Given the description of an element on the screen output the (x, y) to click on. 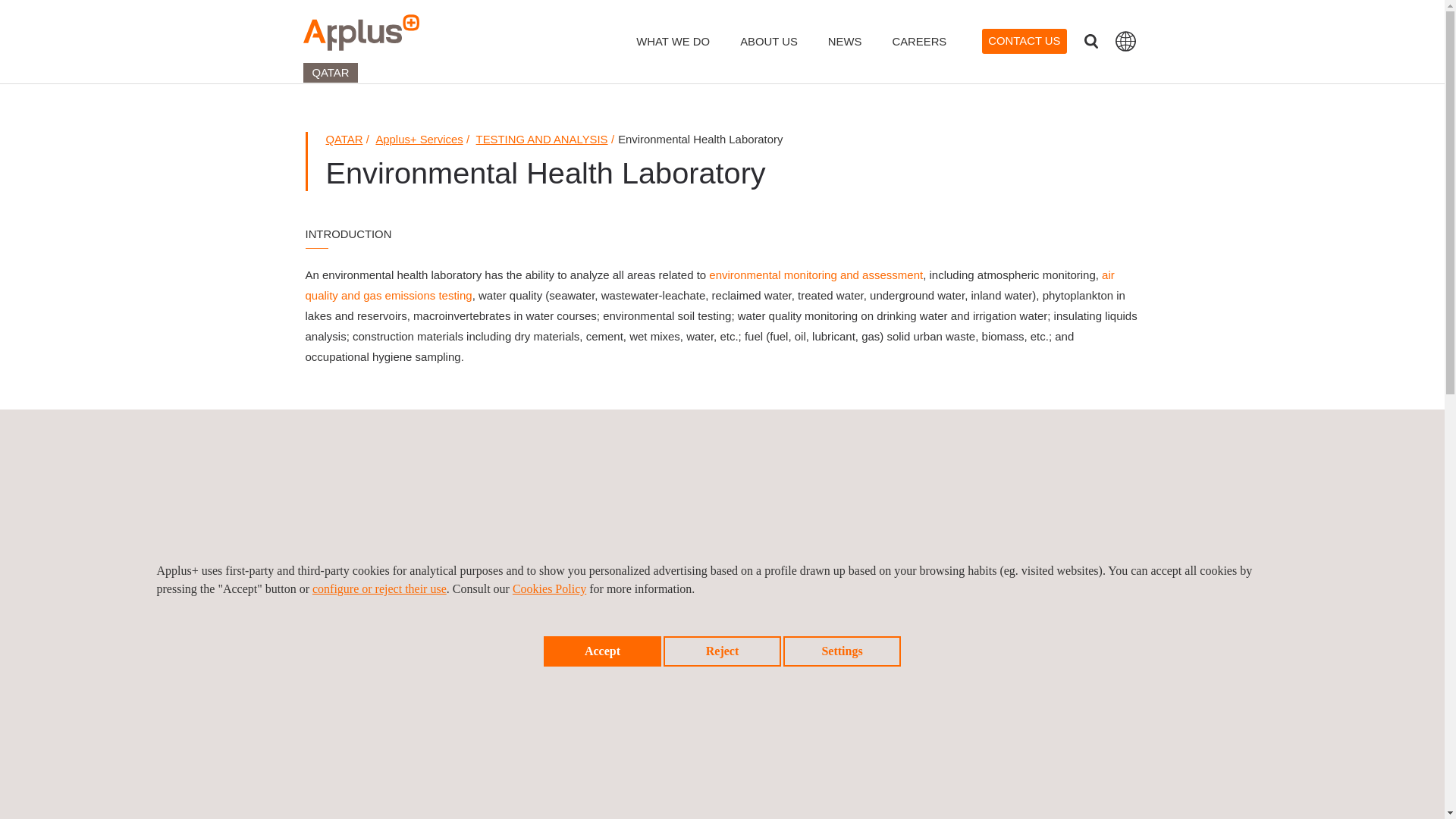
air quality and gas emissions testing (708, 285)
environmental monitoring and assessment (816, 274)
GET A QUOTE (1008, 509)
Environmental Health Laboratory (1007, 710)
DOWNLOAD PDF VERSION (1007, 710)
configure or reject their use (379, 588)
CAREERS (918, 51)
QATAR (344, 139)
Countries (1124, 40)
ABOUT US (768, 51)
